Given the description of an element on the screen output the (x, y) to click on. 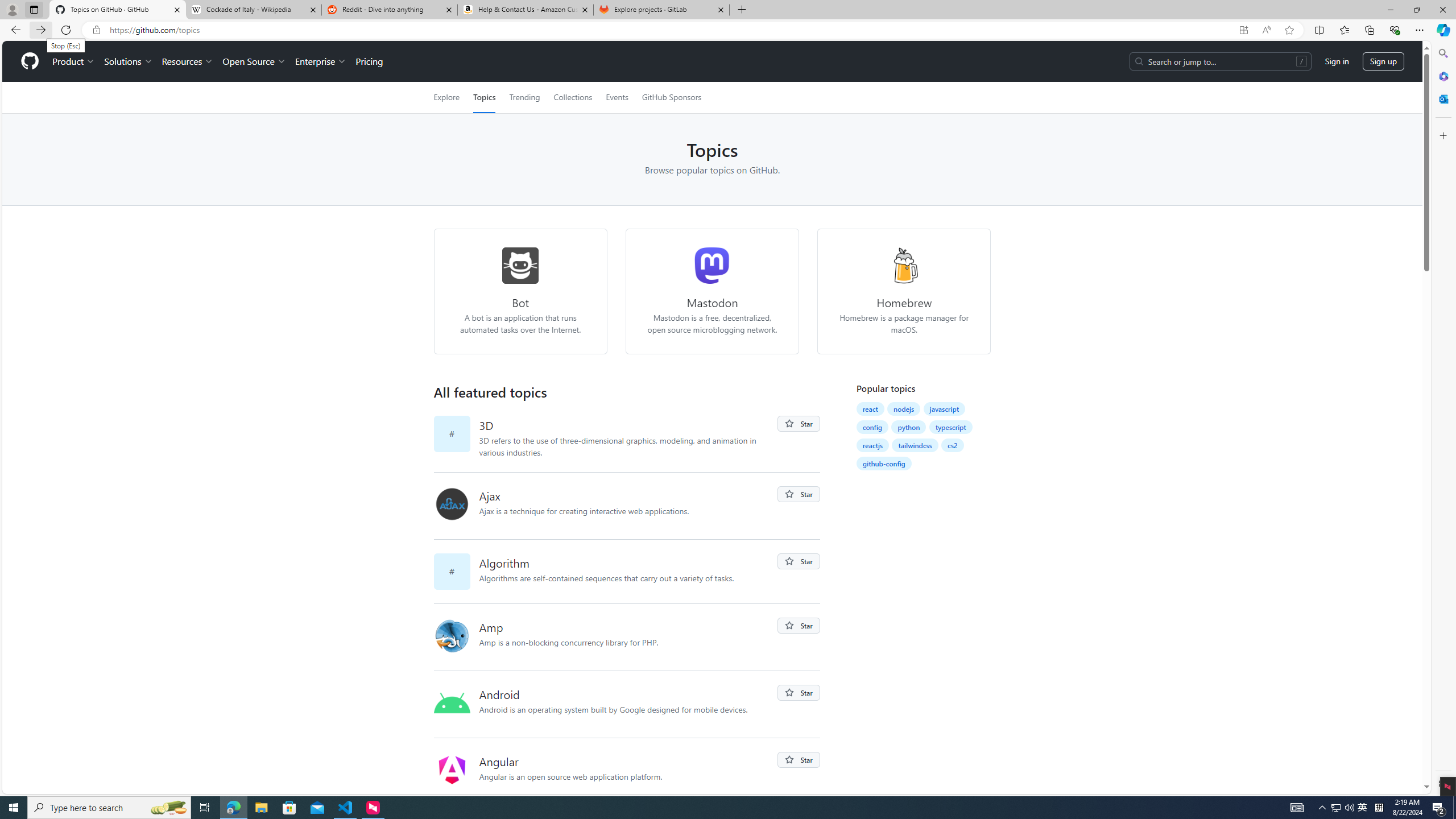
ajax (456, 505)
reactjs (872, 445)
nodejs (903, 408)
GitHub Sponsors (671, 97)
Resources (187, 60)
# (456, 571)
